Given the description of an element on the screen output the (x, y) to click on. 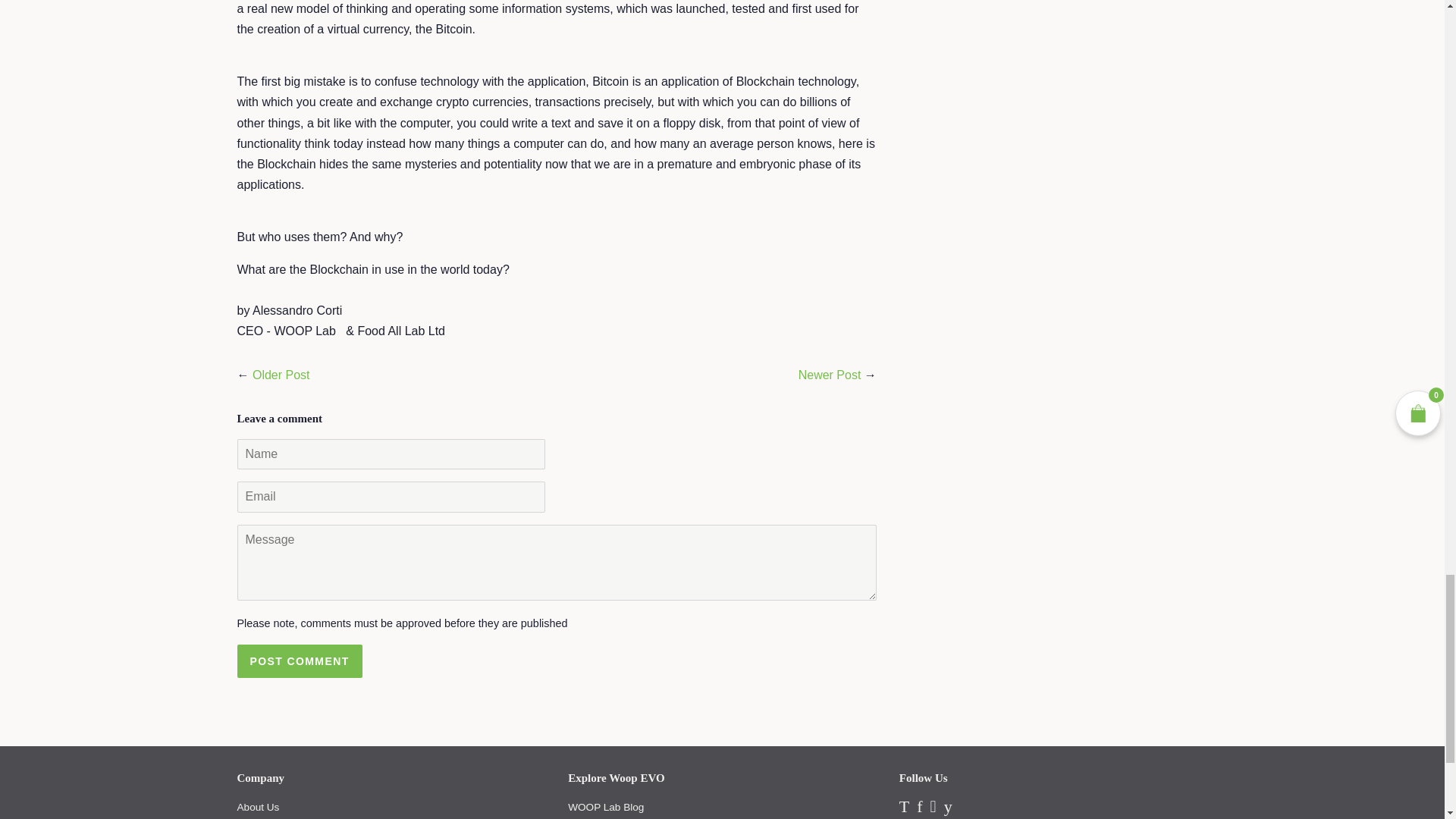
Post comment (298, 661)
Post comment (298, 661)
Older Post (280, 374)
Newer Post (829, 374)
